Given the description of an element on the screen output the (x, y) to click on. 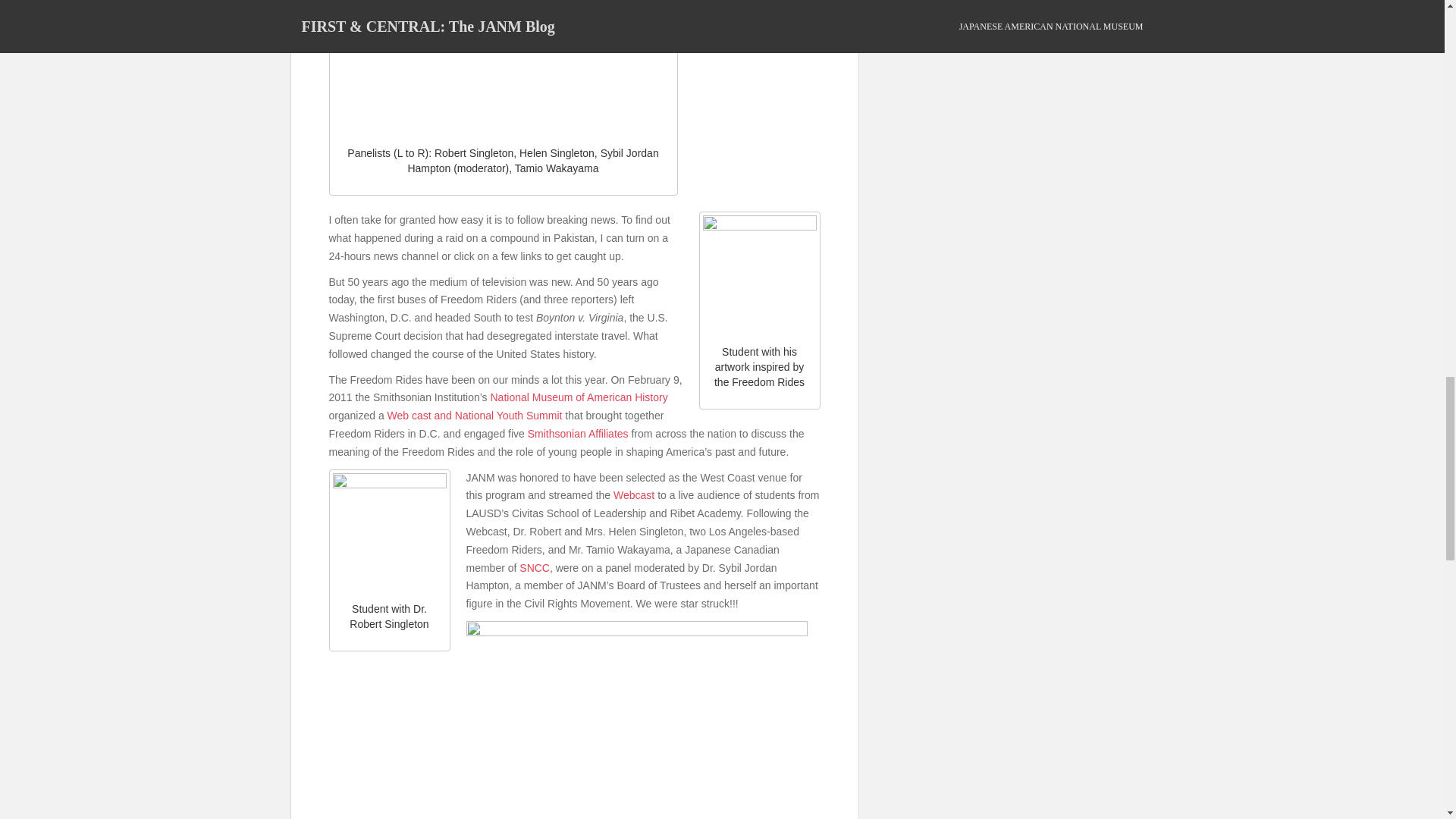
Webcast (632, 494)
SNCC (534, 567)
Web cast and National Youth Summit (474, 415)
National Museum of American History (577, 397)
Student with Dr. Robert Singleton (388, 530)
Smithsonian Affiliates (577, 433)
